Given the description of an element on the screen output the (x, y) to click on. 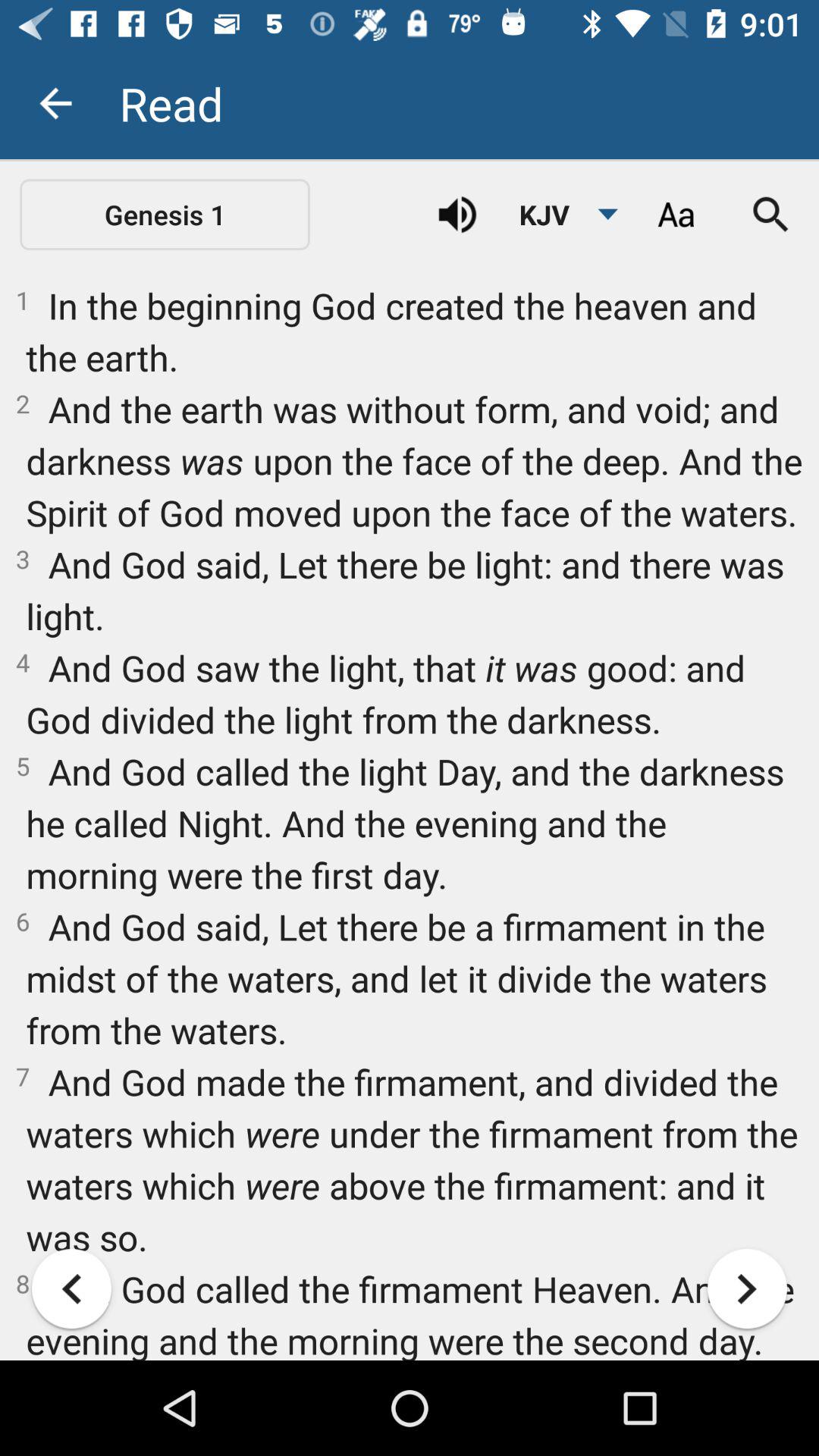
select the item to the right of genesis 1 item (457, 214)
